Given the description of an element on the screen output the (x, y) to click on. 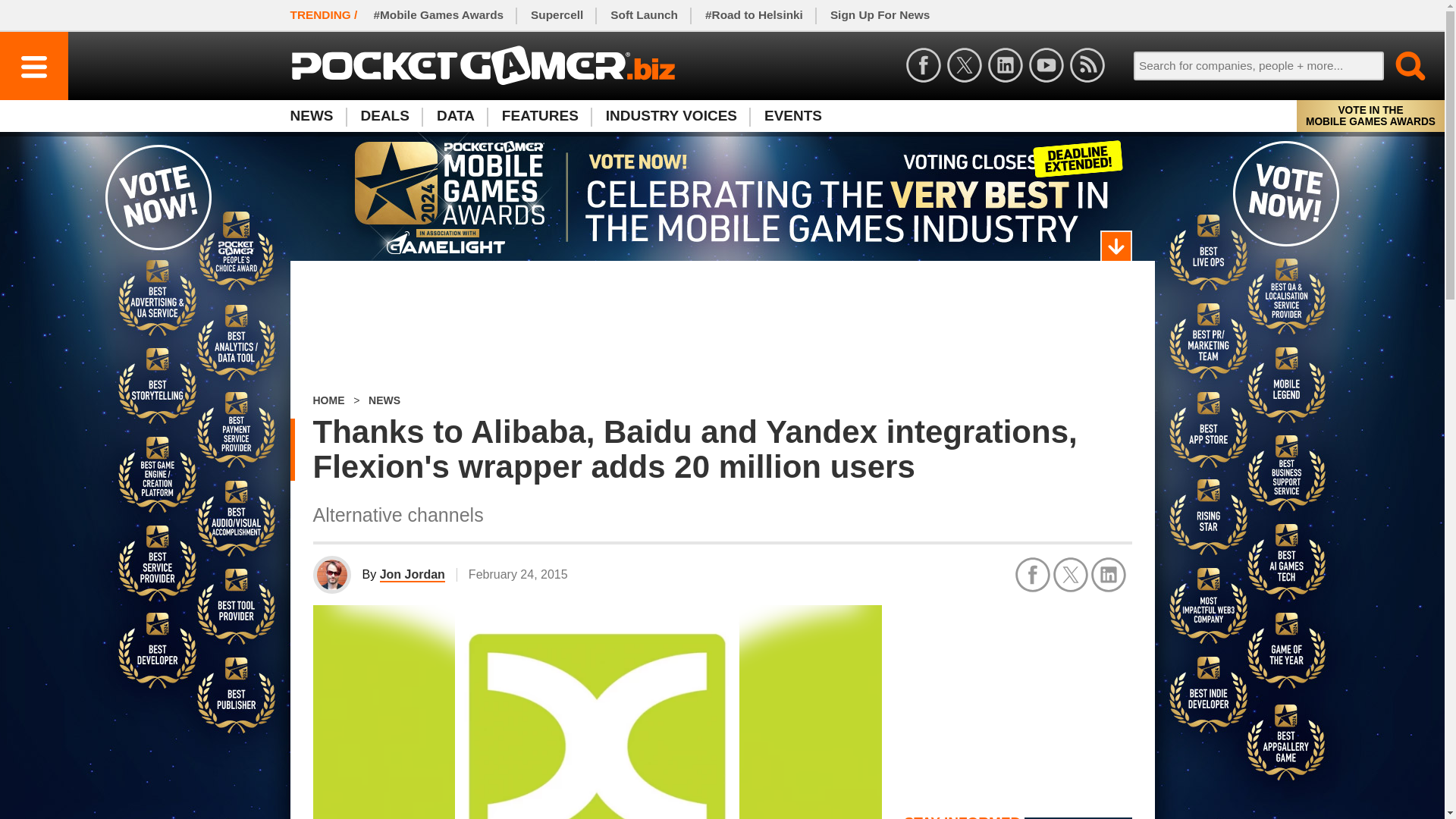
EVENTS (793, 115)
INDUSTRY VOICES (671, 115)
HOME (328, 400)
Go (1402, 65)
Soft Launch (643, 15)
DATA (455, 115)
NEWS (384, 400)
NEWS (317, 115)
Jon Jordan (412, 575)
Supercell (556, 15)
DEALS (385, 115)
Sign Up For News (879, 15)
FEATURES (539, 115)
Go (1402, 65)
